Given the description of an element on the screen output the (x, y) to click on. 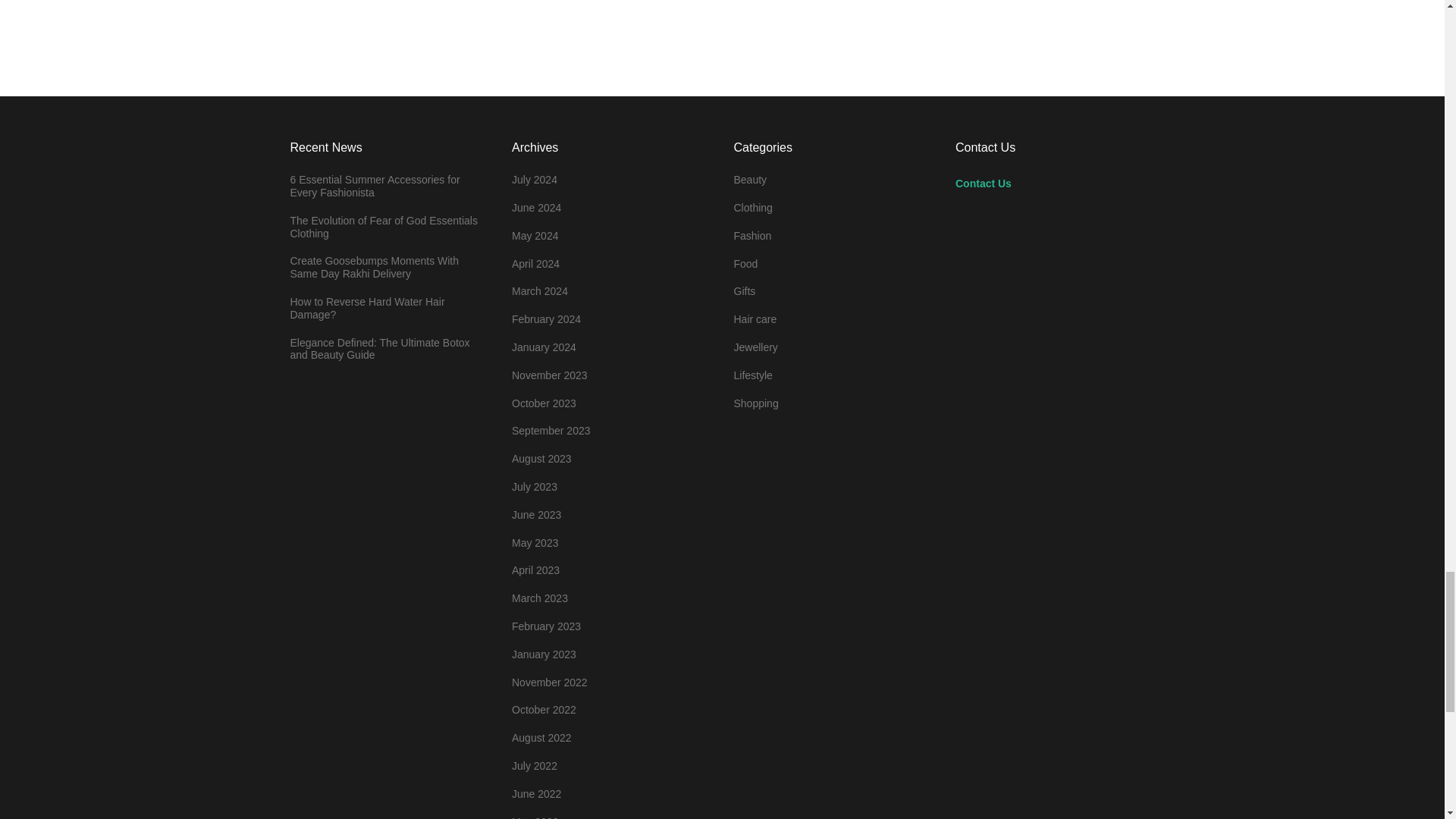
Advertisement (1038, 19)
